Given the description of an element on the screen output the (x, y) to click on. 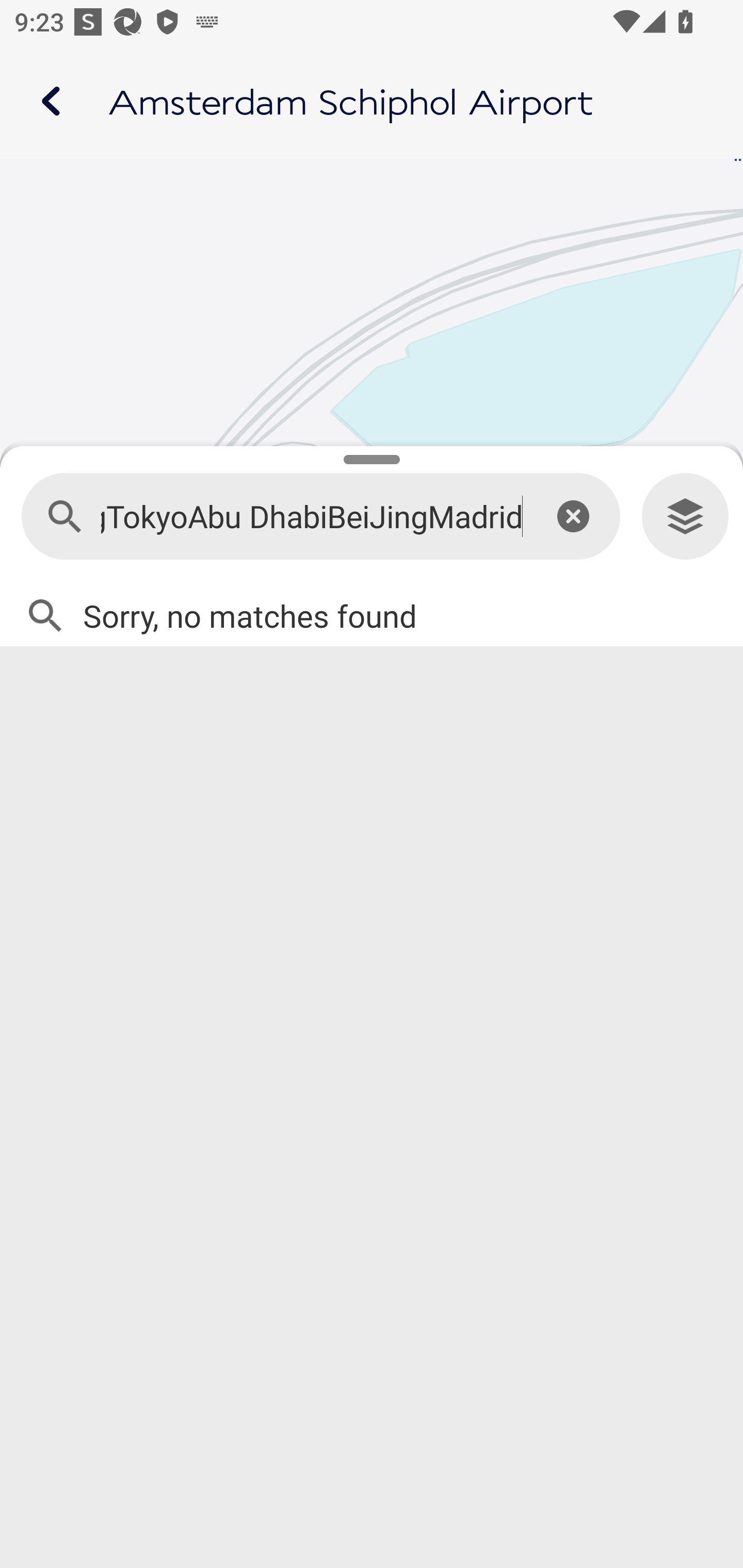
Airport map (371, 100)
MadridHong KongTokyoAbu DhabiBeiJingMadrid (311, 516)
Levels (684, 516)
This is an icon for clearing the text field. (573, 515)
